Given the description of an element on the screen output the (x, y) to click on. 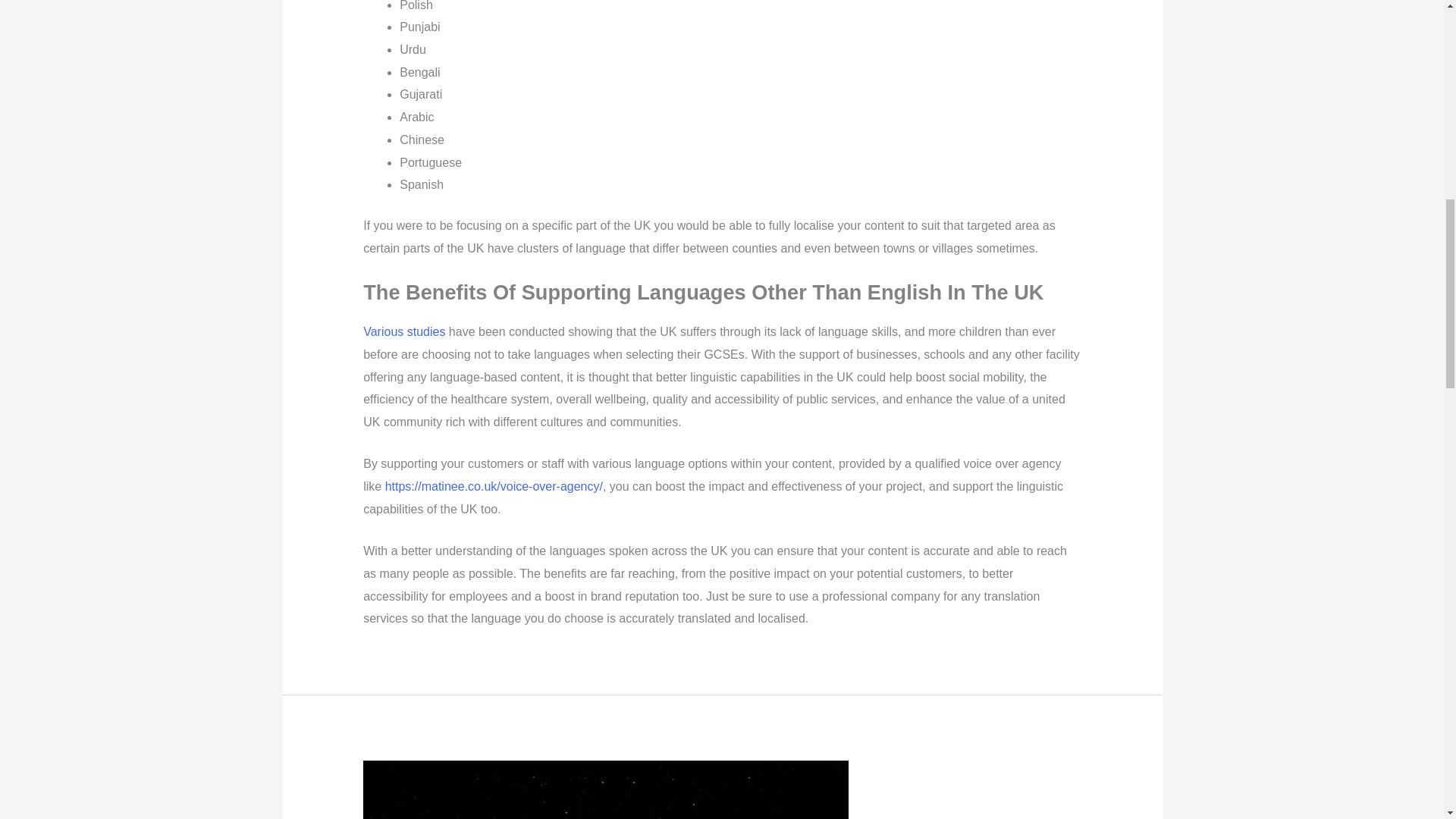
Various studies (403, 331)
